Given the description of an element on the screen output the (x, y) to click on. 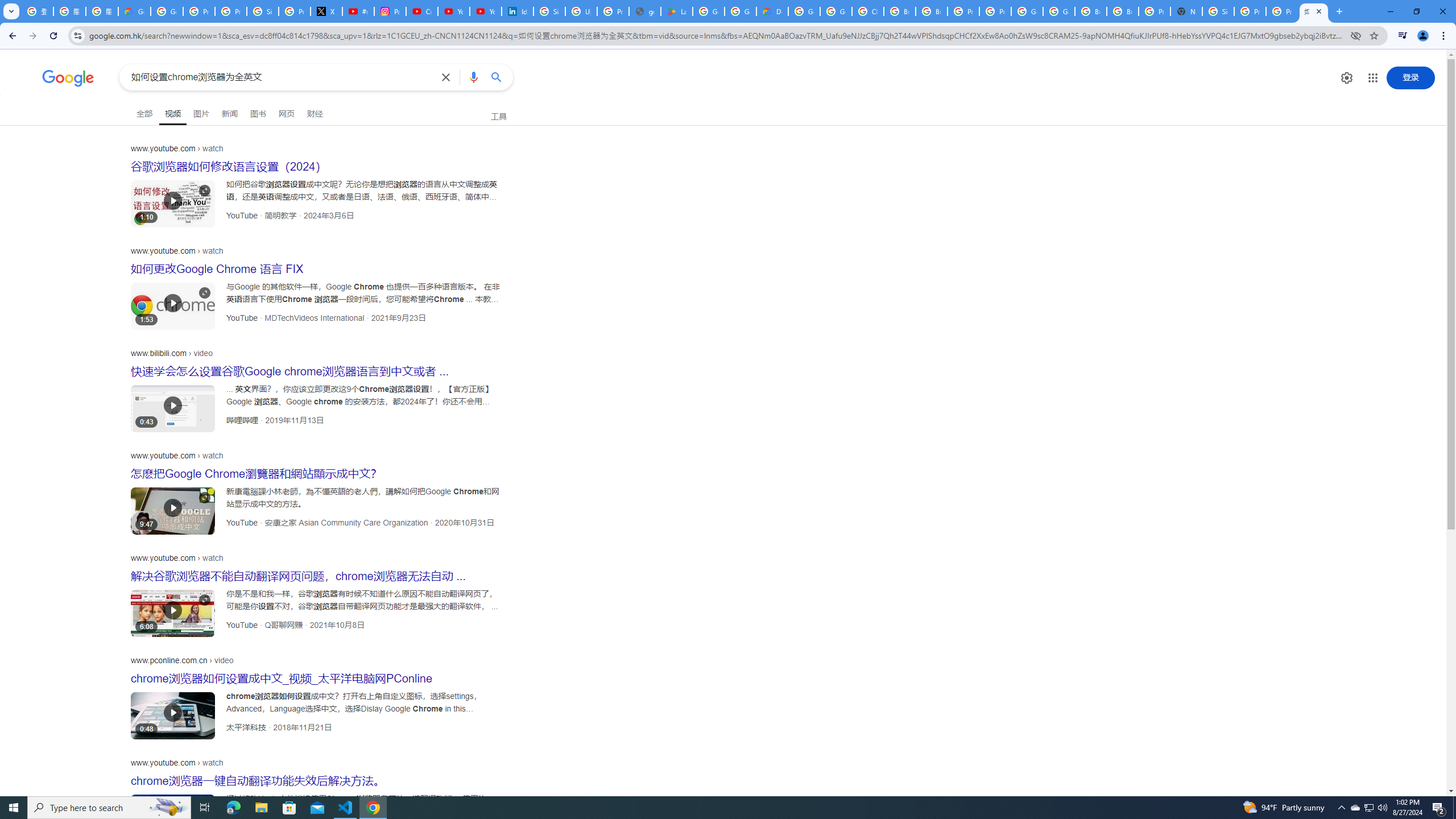
Google Cloud Platform (1027, 11)
